Given the description of an element on the screen output the (x, y) to click on. 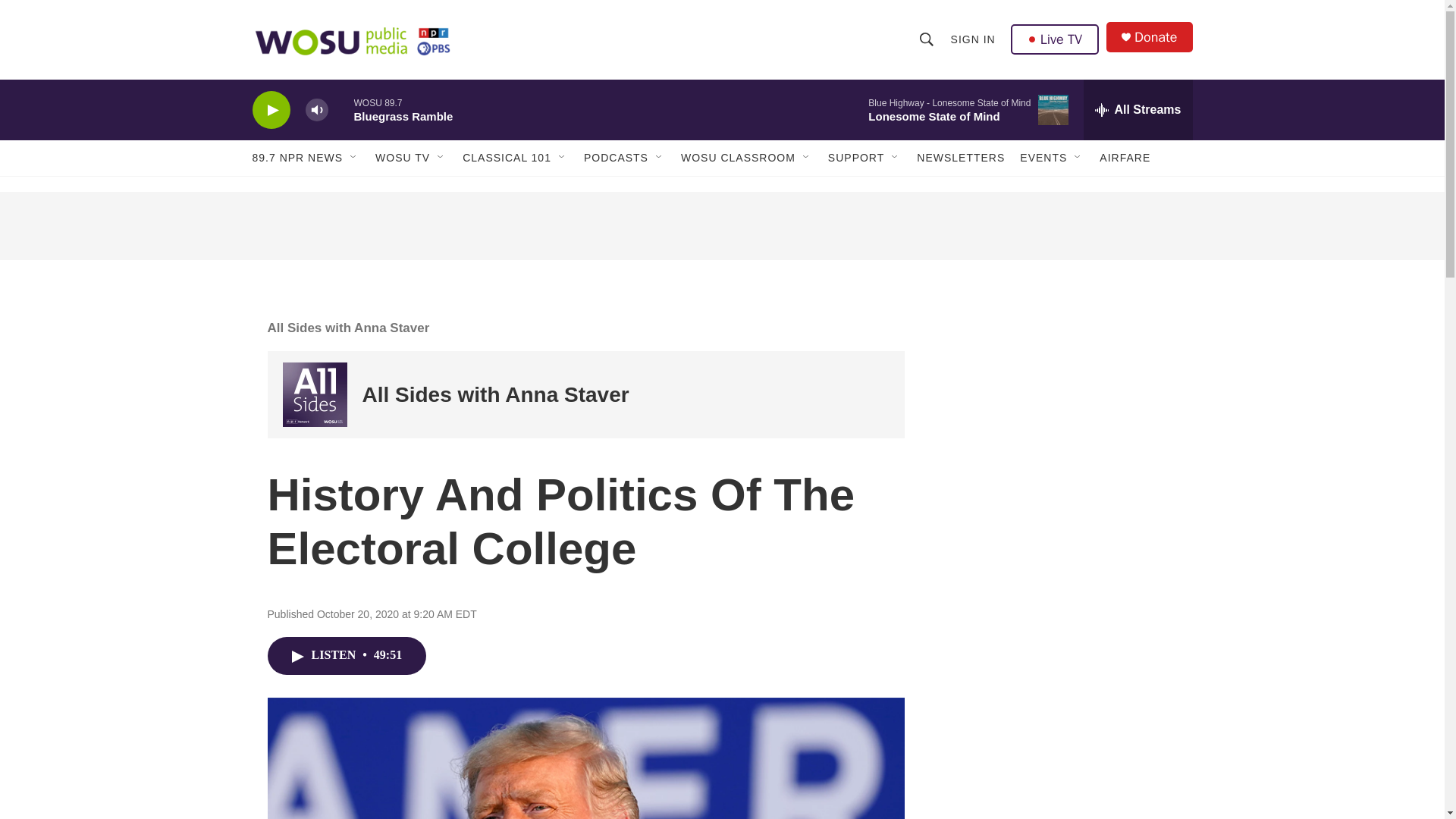
3rd party ad content (1062, 619)
3rd party ad content (1062, 400)
3rd party ad content (1062, 782)
3rd party ad content (721, 225)
